Given the description of an element on the screen output the (x, y) to click on. 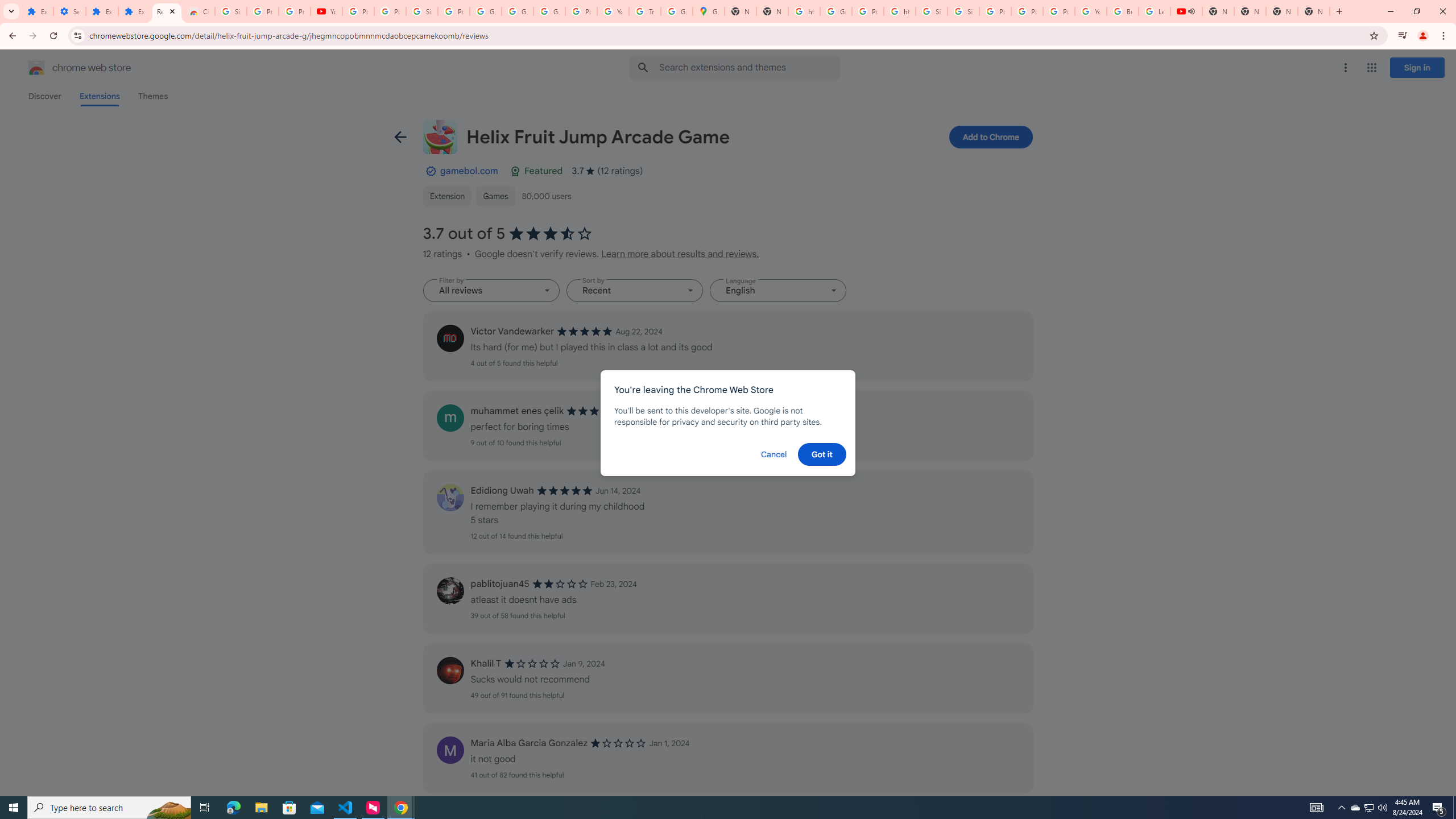
Reviews: Helix Fruit Jump Arcade Game (166, 11)
Google Account (485, 11)
Sign in - Google Accounts (421, 11)
YouTube (326, 11)
